Given the description of an element on the screen output the (x, y) to click on. 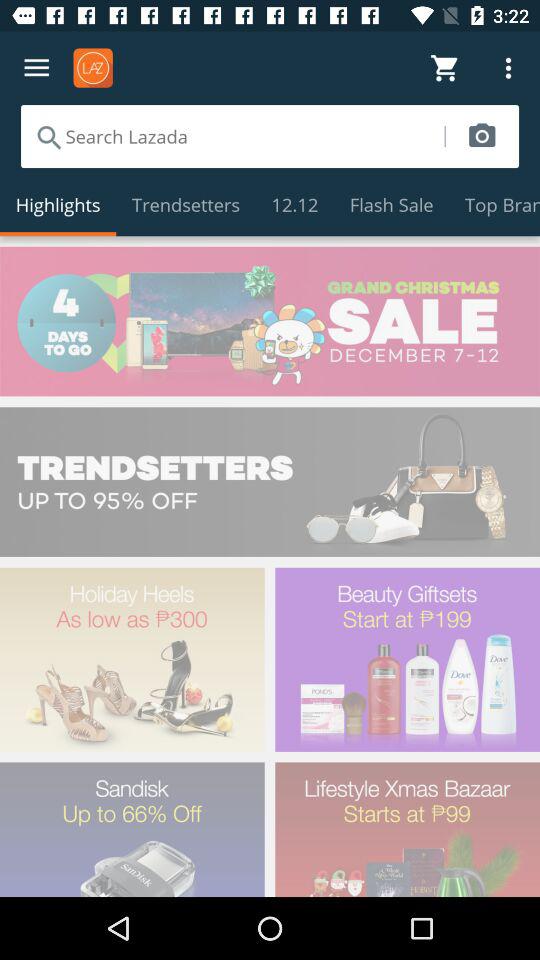
open sale information (270, 321)
